Given the description of an element on the screen output the (x, y) to click on. 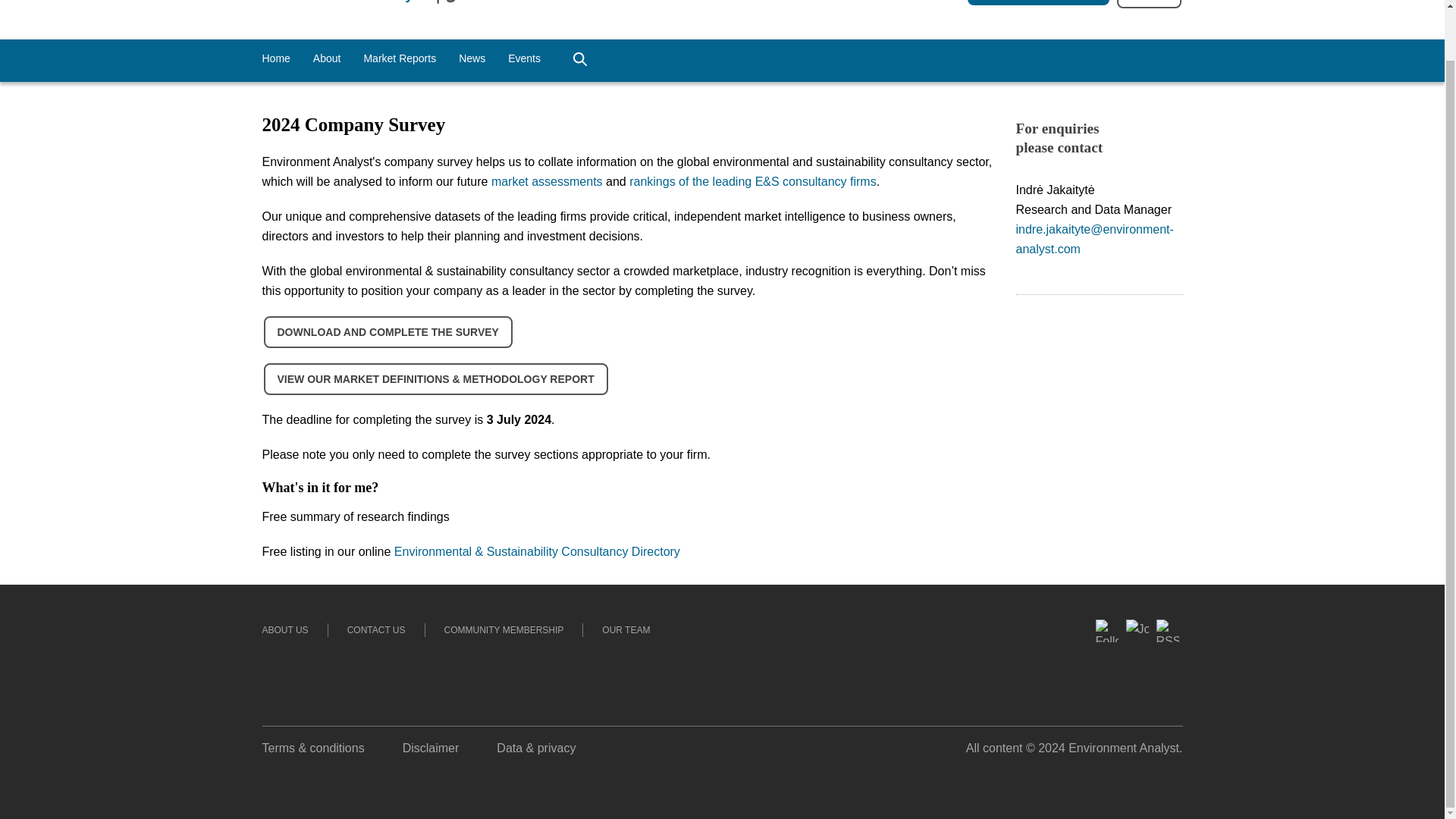
Market Reports (398, 58)
Market Reports (398, 58)
About (326, 58)
About (326, 58)
Home (275, 58)
Events (524, 58)
market assessments (547, 181)
RSS Feed (1167, 660)
Join us on LinkedIn (1137, 687)
LOG IN (1148, 4)
BECOME A MEMBER (1038, 2)
Events (524, 58)
Home (275, 58)
Follow us on Twitter (1107, 699)
